Given the description of an element on the screen output the (x, y) to click on. 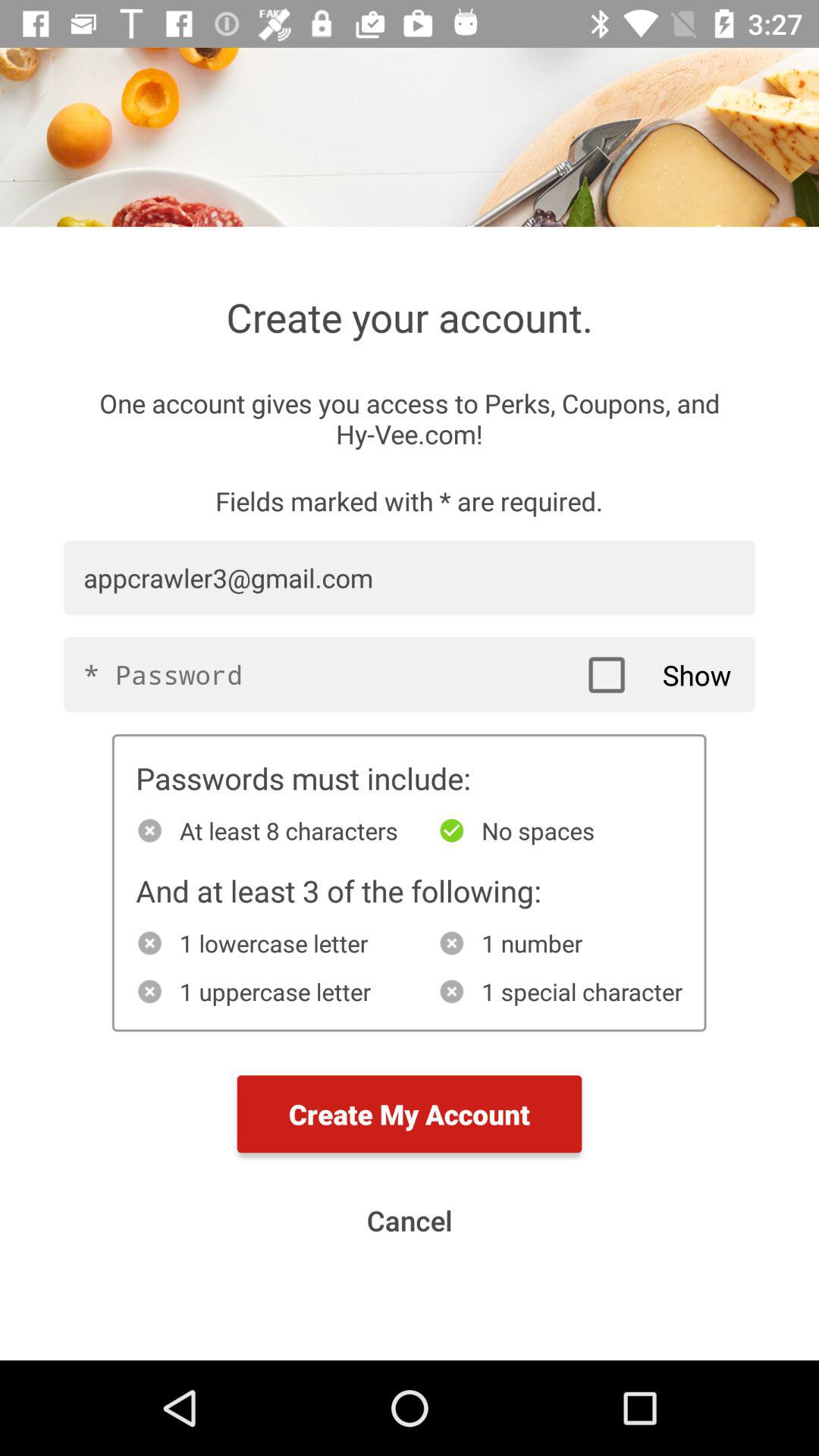
enter password (409, 674)
